Given the description of an element on the screen output the (x, y) to click on. 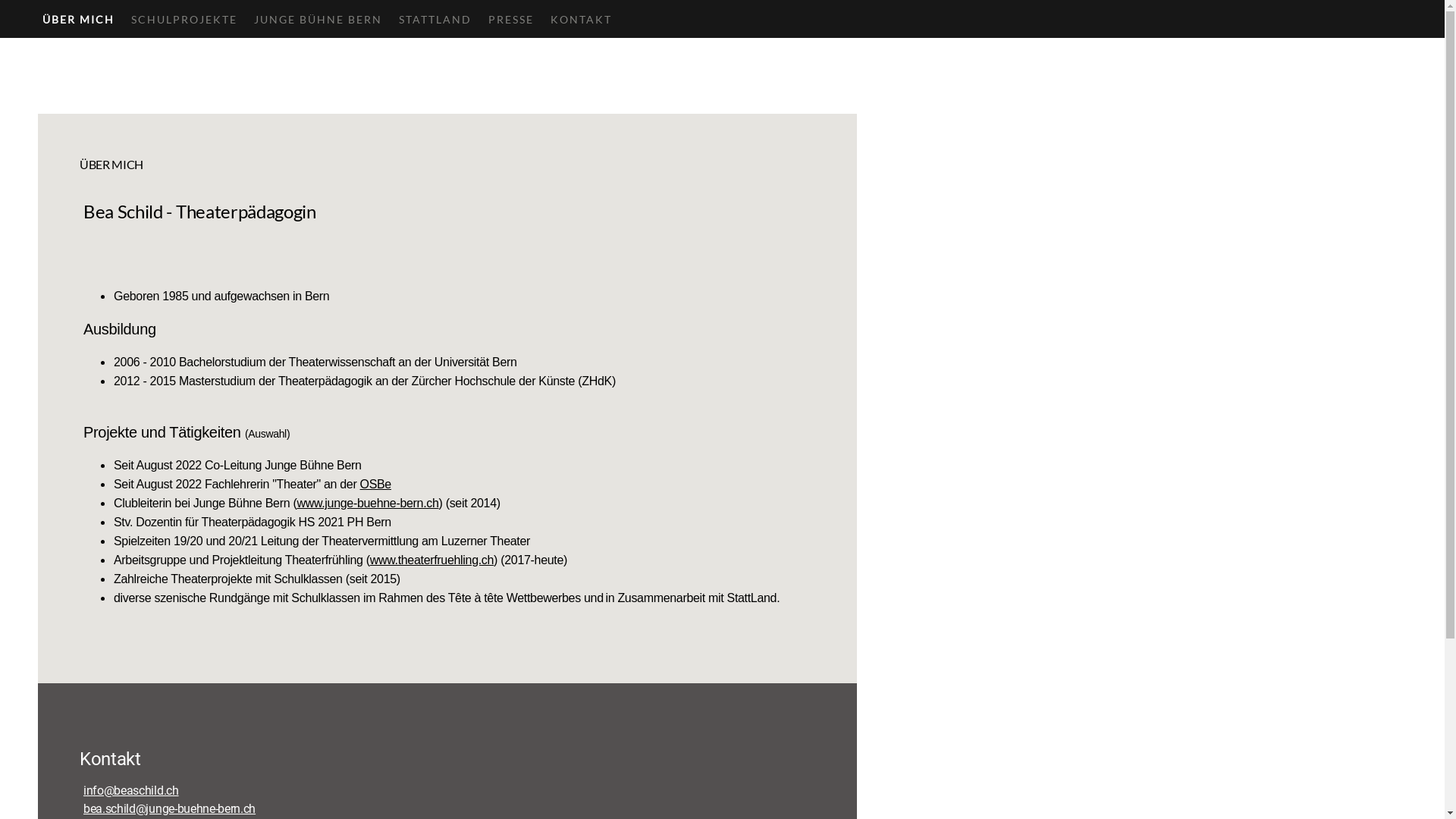
www.theaterfruehling.ch Element type: text (431, 559)
OSBe Element type: text (375, 483)
www.junge-buehne-bern.ch Element type: text (367, 502)
PRESSE Element type: text (511, 18)
info@beaschild.ch Element type: text (130, 790)
KONTAKT Element type: text (581, 18)
STATTLAND Element type: text (435, 18)
bea.schild@junge-buehne-bern.ch Element type: text (169, 808)
SCHULPROJEKTE Element type: text (183, 18)
